Given the description of an element on the screen output the (x, y) to click on. 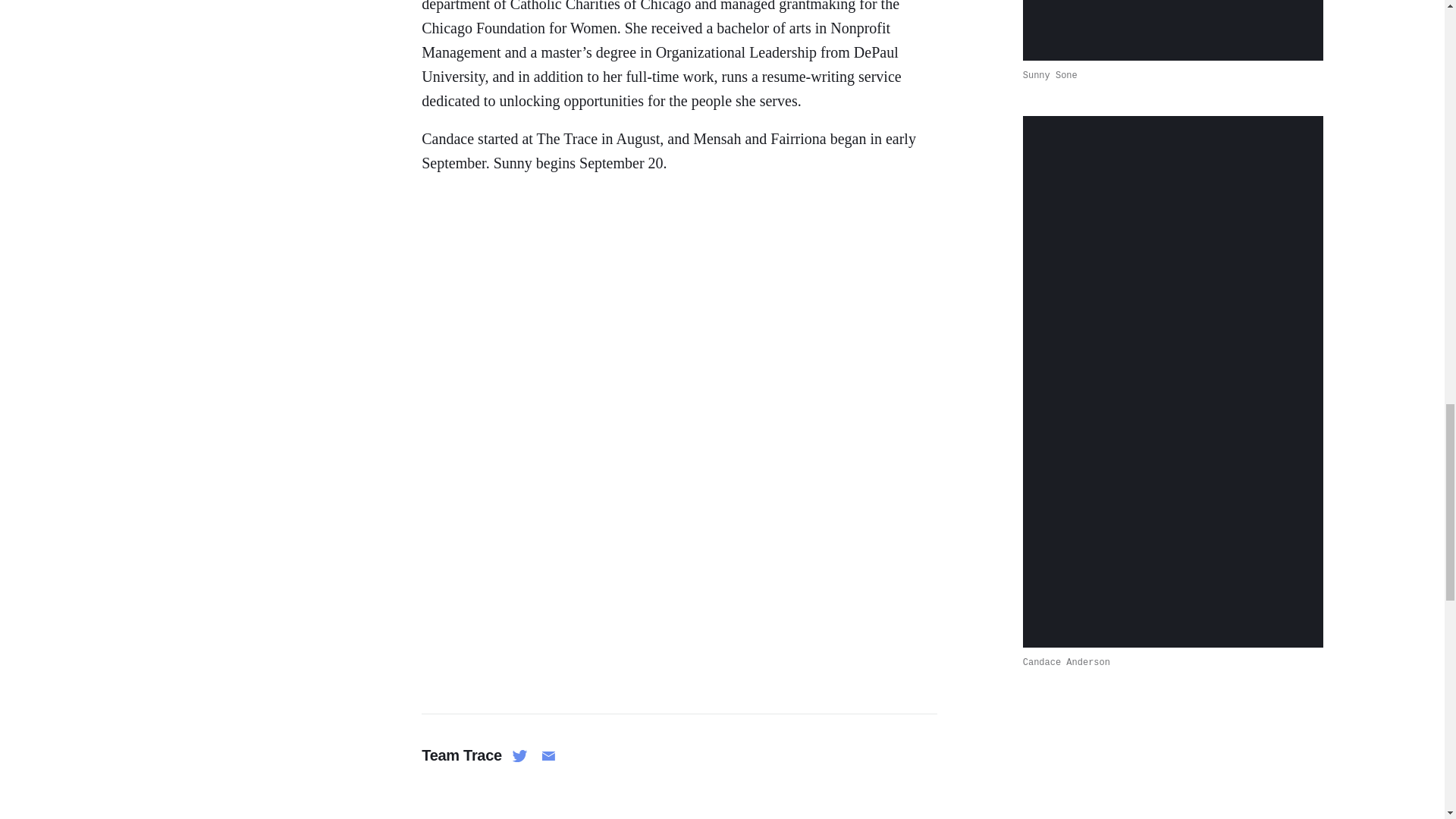
email (545, 755)
twitter (516, 755)
Team Trace (462, 755)
